Given the description of an element on the screen output the (x, y) to click on. 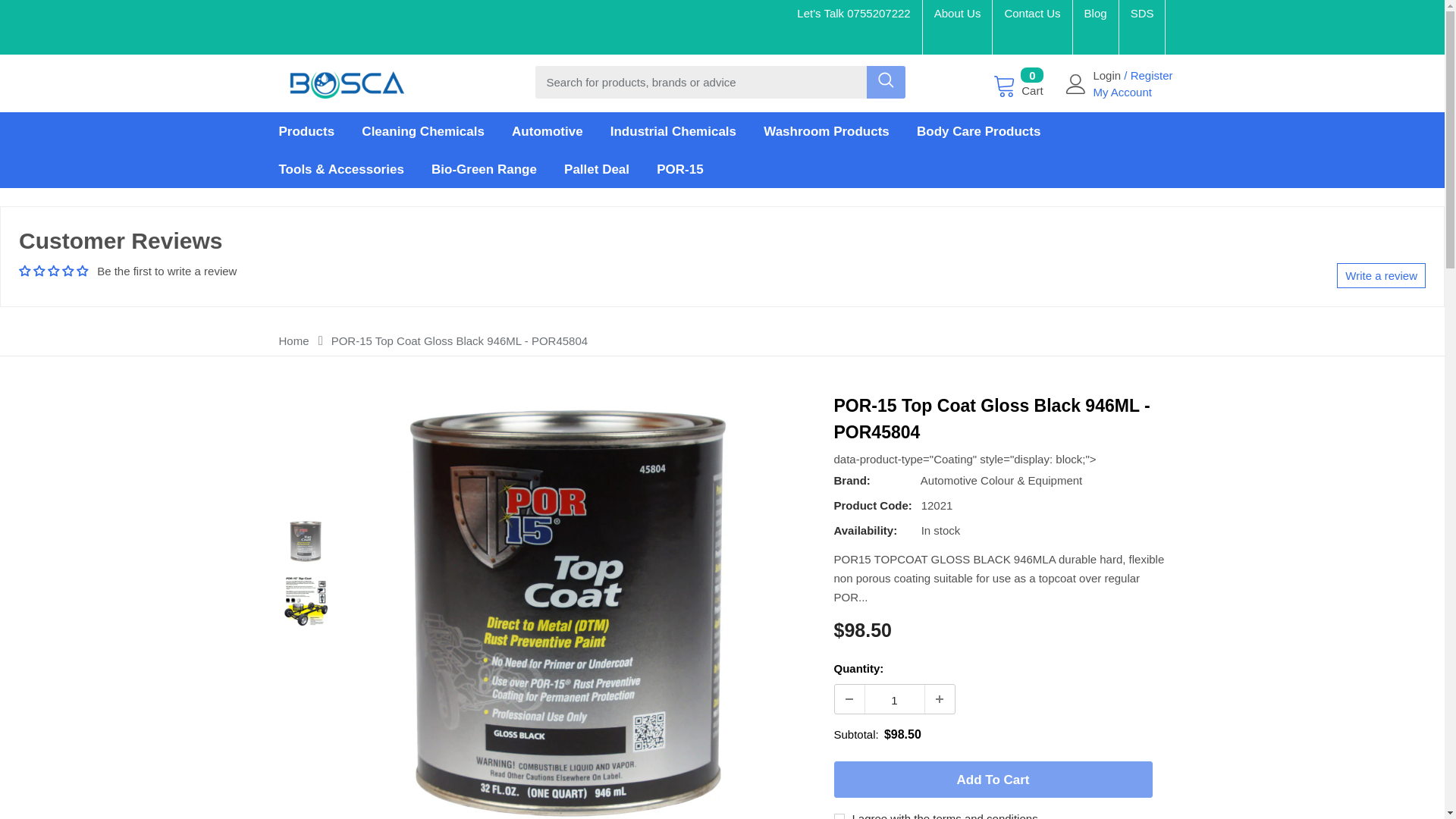
Register (1152, 74)
SDS (1142, 12)
Blog (1095, 12)
Contact Us (1031, 12)
Let's Talk 0755207222 (853, 12)
Add to Cart (993, 779)
About Us (957, 12)
Login (1108, 74)
My Account (1122, 91)
Logo (346, 80)
Cart (1017, 83)
1 (893, 699)
